Given the description of an element on the screen output the (x, y) to click on. 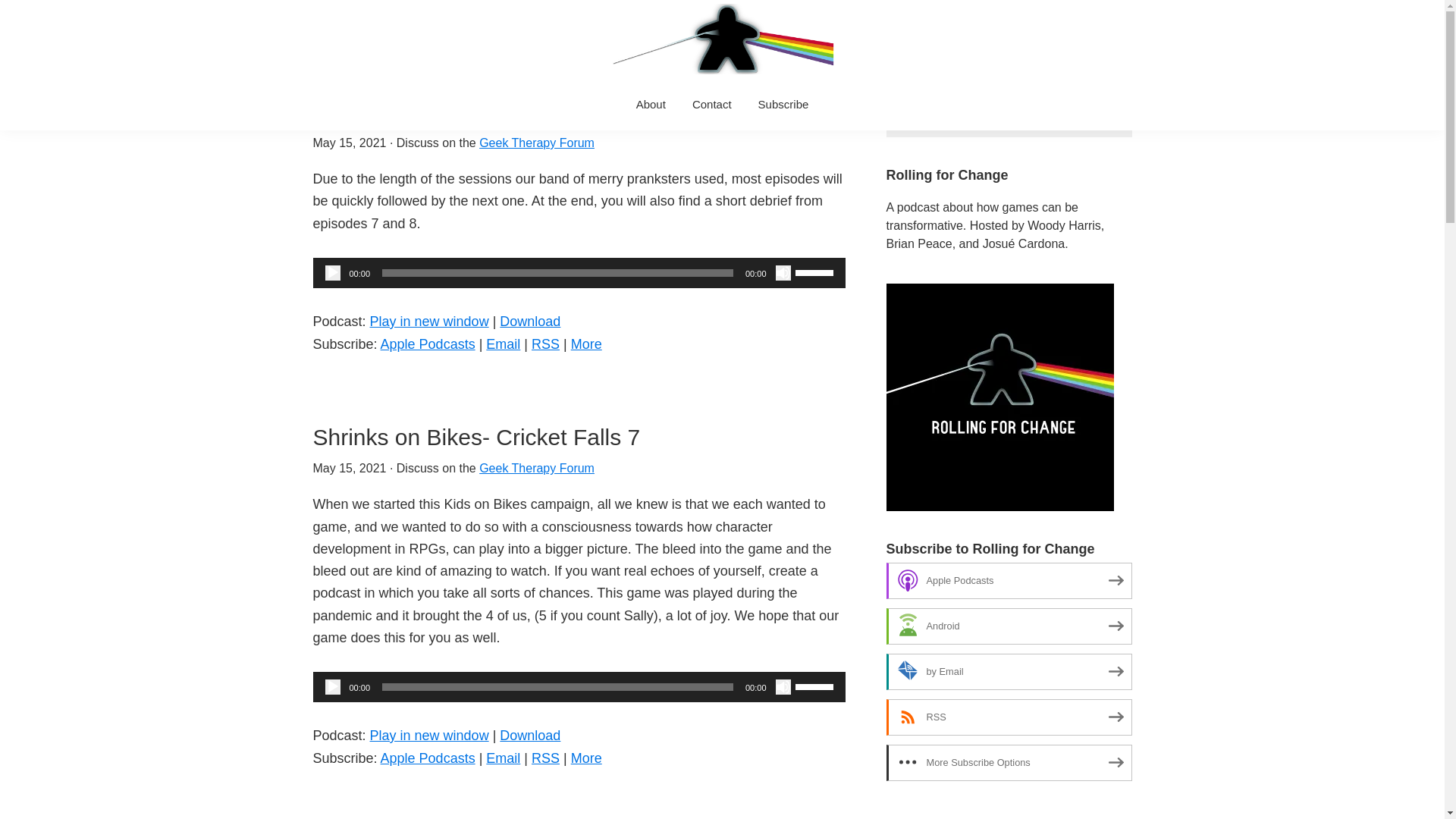
Subscribe by Email (502, 758)
Shrinks on Bikes- Cricket Falls 7 (476, 437)
Play in new window (429, 321)
RSS (545, 344)
Play in new window (429, 735)
Play in new window (429, 321)
Download (529, 735)
Email (502, 758)
Download (529, 321)
